Given the description of an element on the screen output the (x, y) to click on. 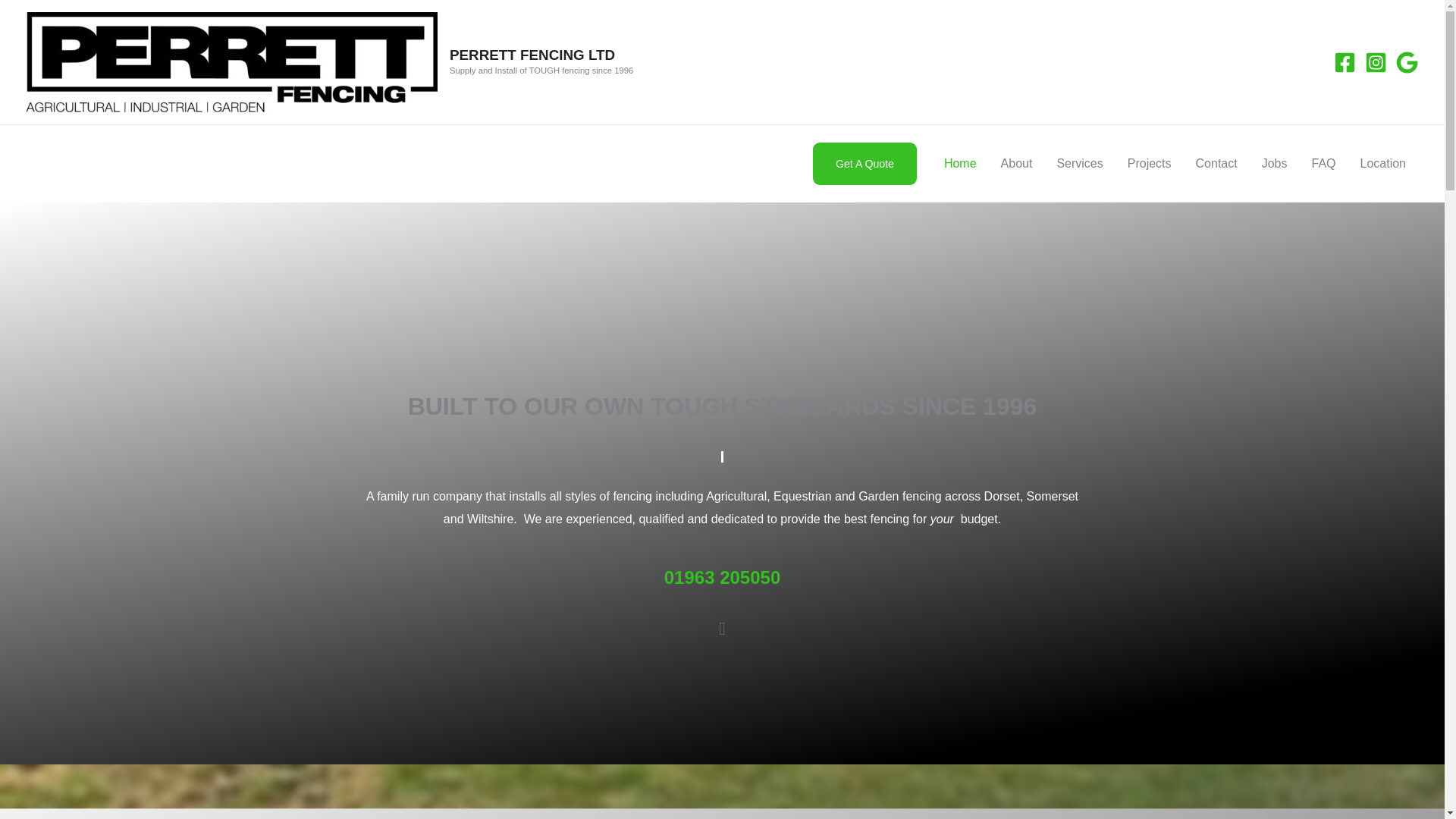
Services (1079, 163)
Get A Quote (864, 163)
Location (1383, 163)
PERRETT FENCING LTD (531, 54)
Contact (1216, 163)
About (1016, 163)
Home (959, 163)
FAQ (1323, 163)
Jobs (1274, 163)
Projects (1149, 163)
